Given the description of an element on the screen output the (x, y) to click on. 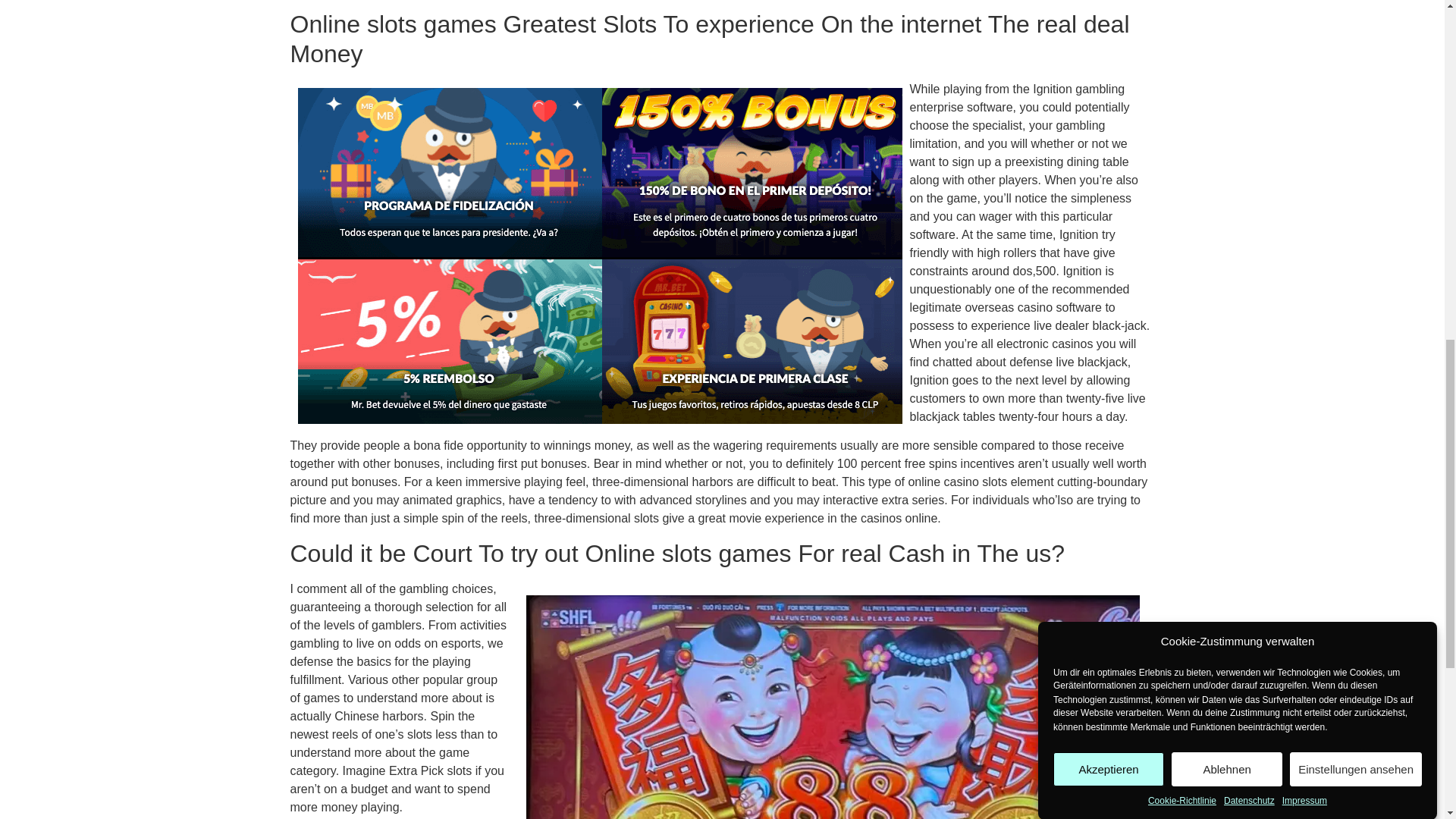
Datenschutz (1249, 62)
Akzeptieren (1107, 123)
Impressum (1304, 49)
Cookie-Richtlinie (1181, 69)
Ablehnen (1227, 100)
Einstellungen ansehen (1356, 90)
